Given the description of an element on the screen output the (x, y) to click on. 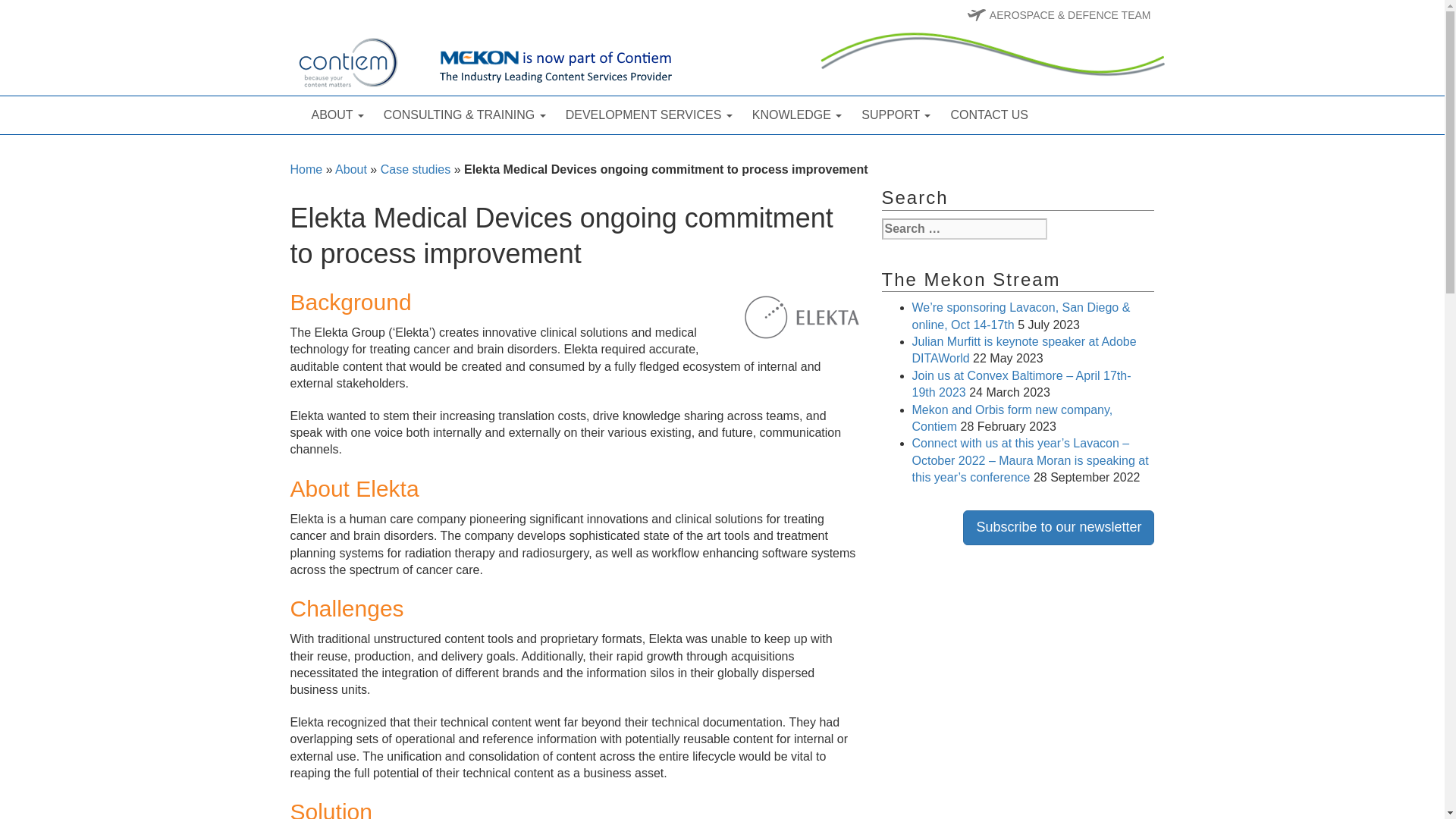
Mekon, part of Contiem (431, 61)
SUPPORT (895, 115)
ABOUT (337, 115)
About (337, 115)
Mekon, part of Contiem (431, 61)
DEVELOPMENT SERVICES (649, 115)
KNOWLEDGE (796, 115)
CONTACT US (989, 115)
